Given the description of an element on the screen output the (x, y) to click on. 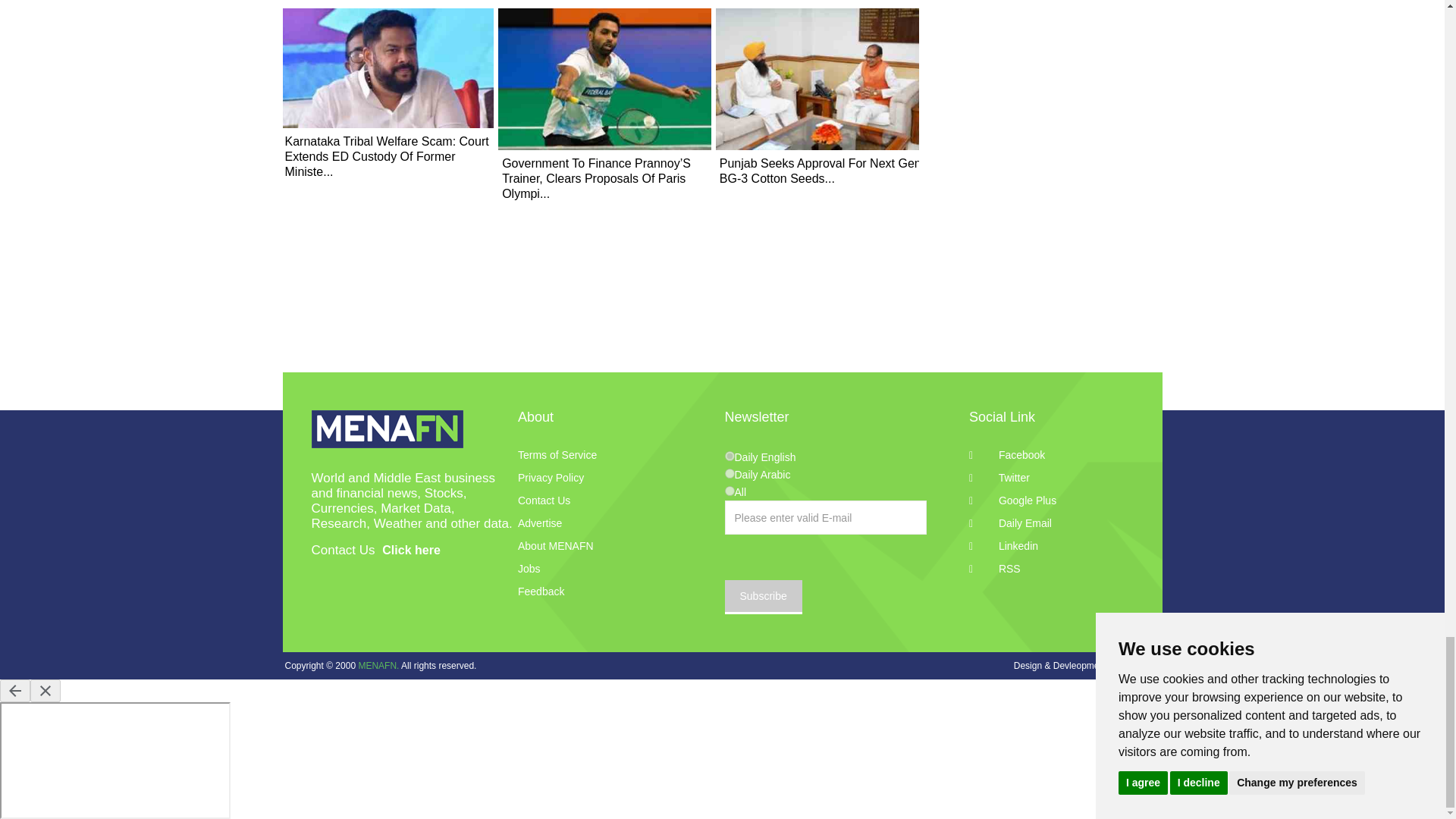
Subscribe (763, 596)
Advertisement (1047, 5)
